Given the description of an element on the screen output the (x, y) to click on. 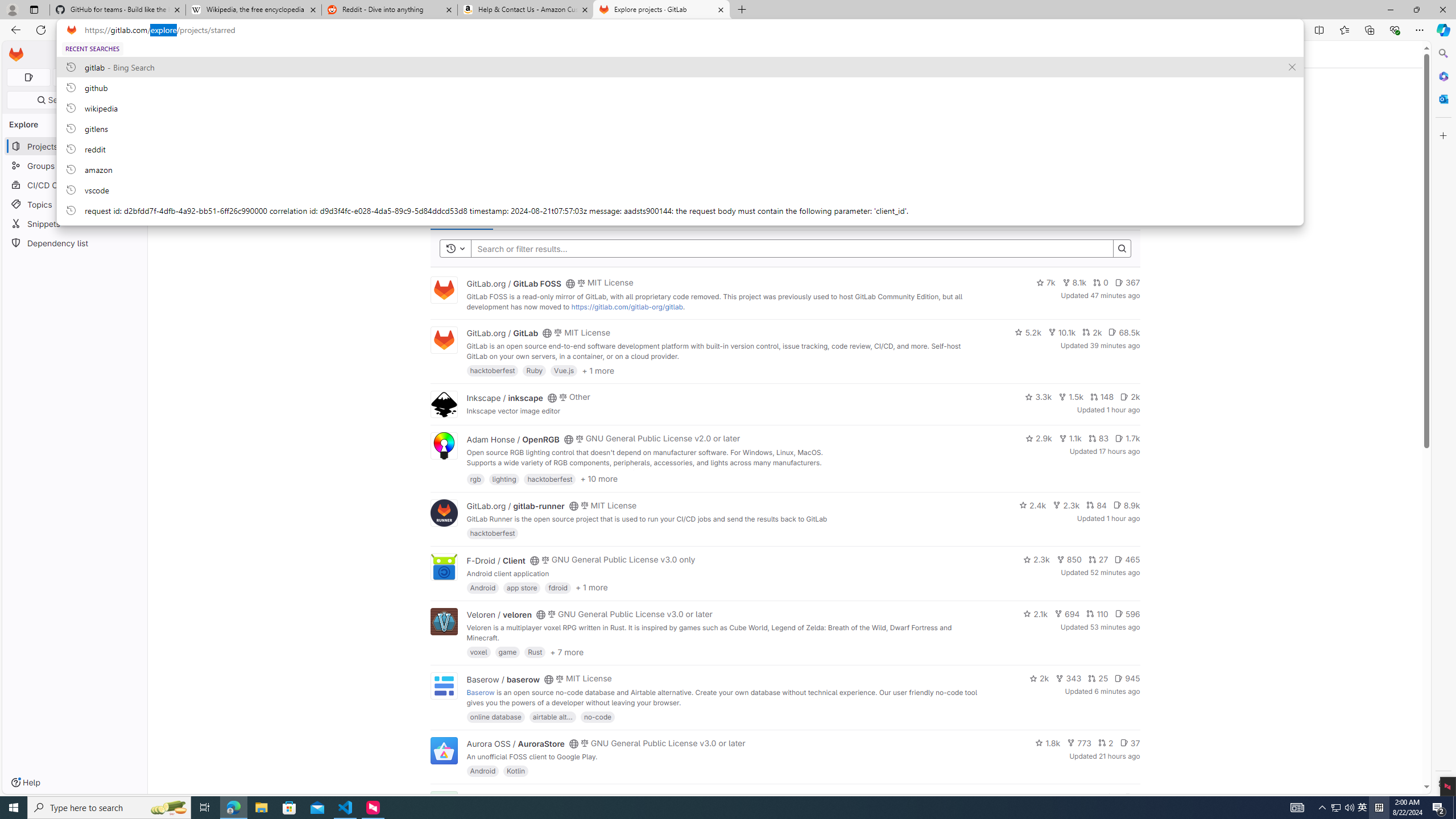
rgb (475, 478)
148 (1101, 396)
GitLab.org / GitLab FOSS (513, 283)
1.1k (1069, 438)
